Given the description of an element on the screen output the (x, y) to click on. 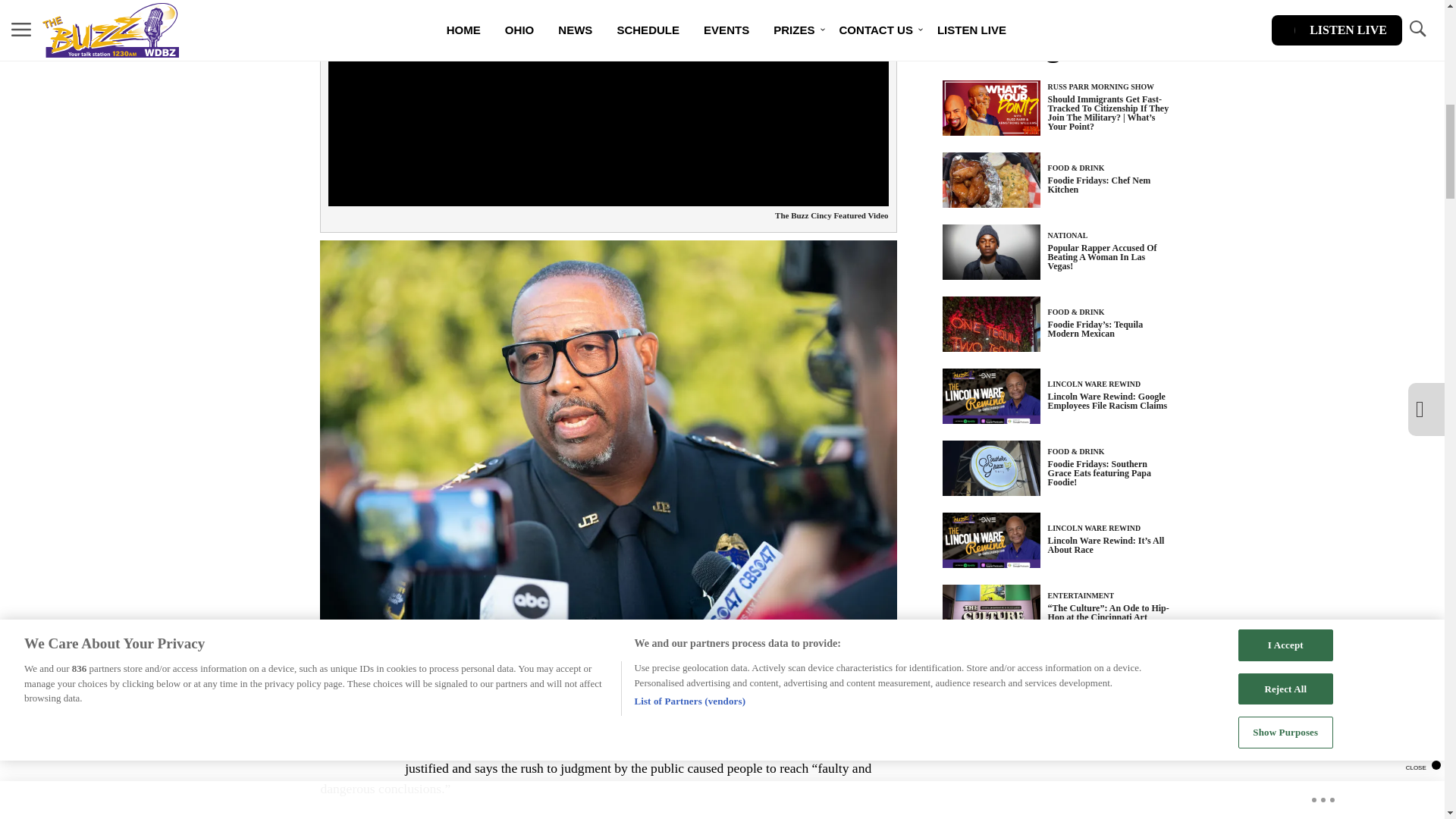
According to News4JAX, (473, 748)
